Given the description of an element on the screen output the (x, y) to click on. 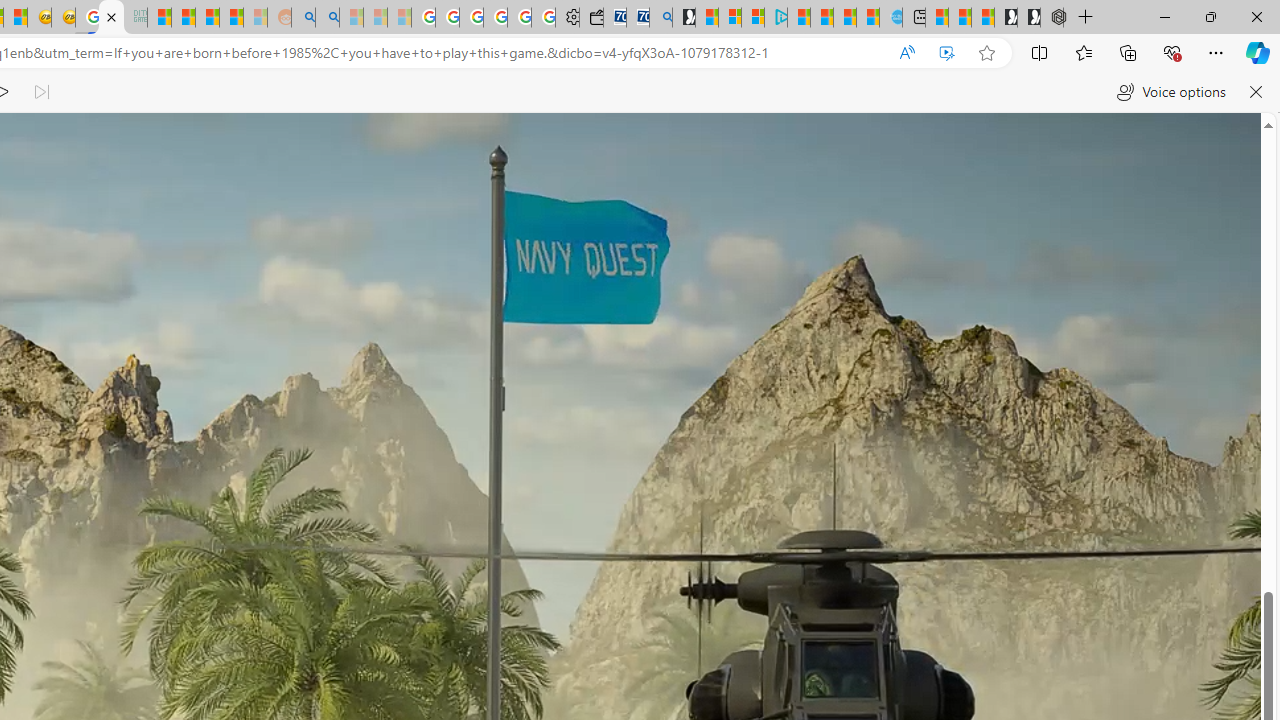
Read next paragraph (40, 92)
